Given the description of an element on the screen output the (x, y) to click on. 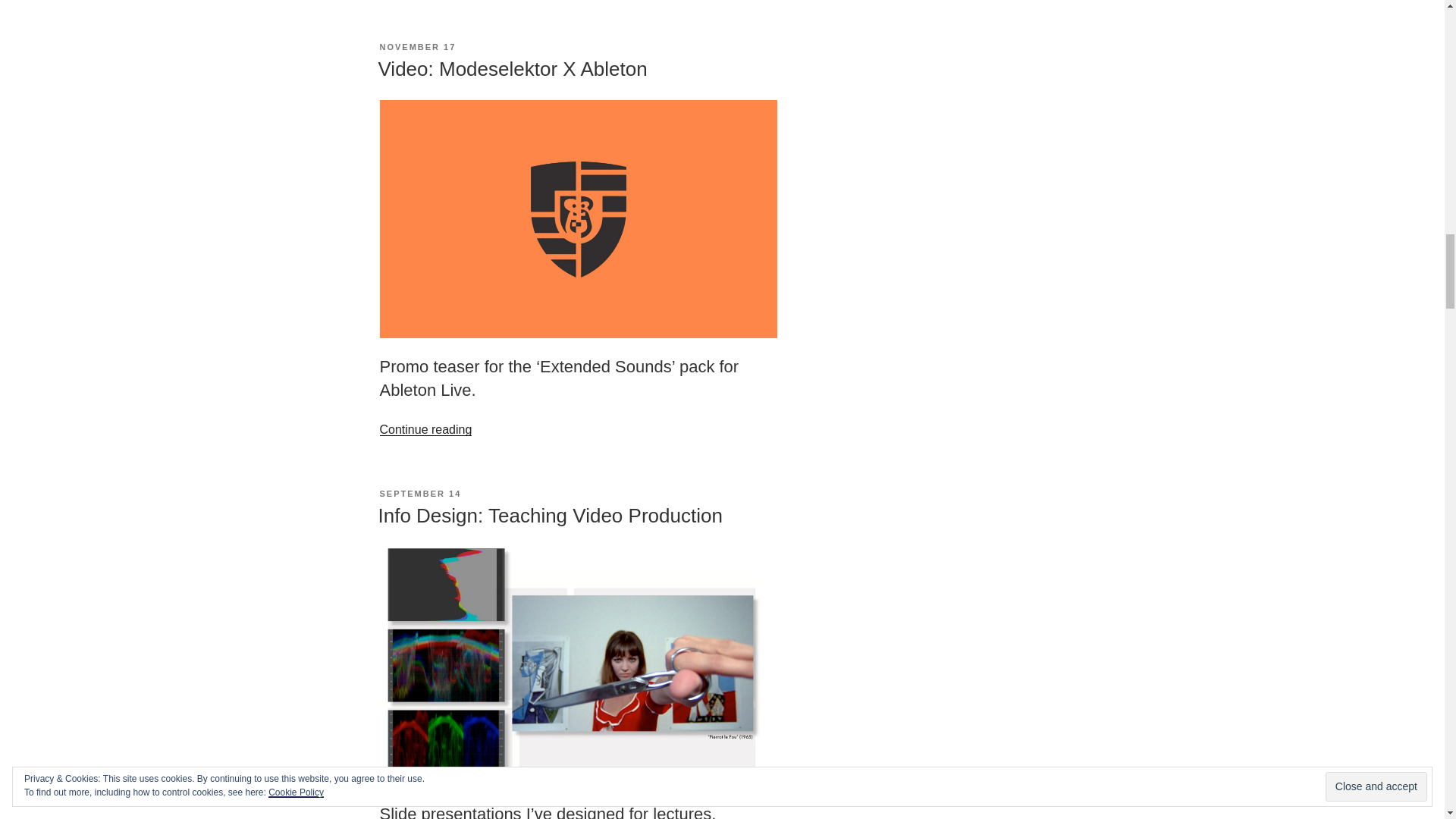
Video: Modeselektor X Ableton (511, 68)
Info Design: Teaching Video Production (549, 515)
NOVEMBER 17 (416, 46)
SEPTEMBER 14 (419, 492)
